Given the description of an element on the screen output the (x, y) to click on. 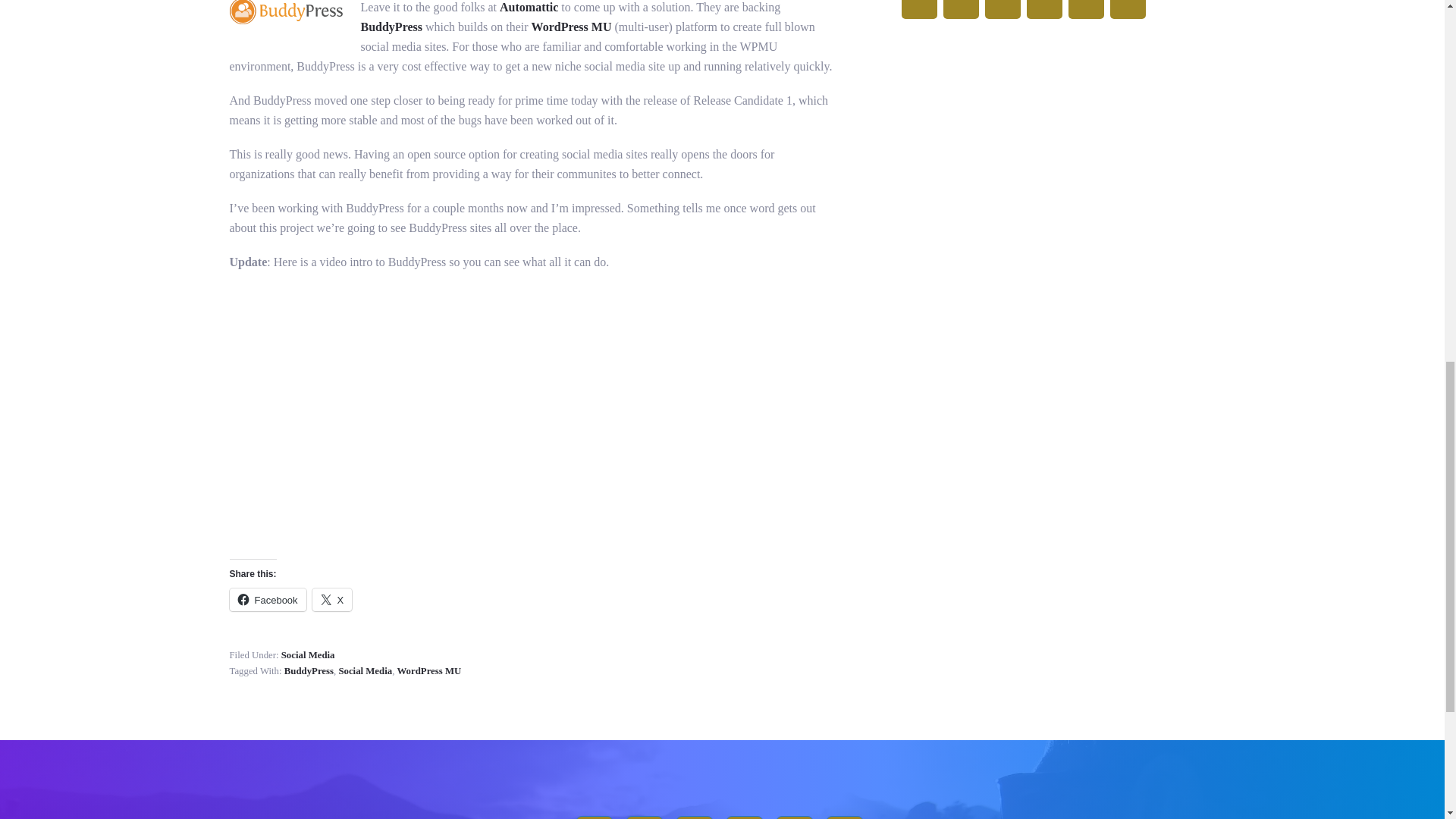
Facebook (266, 599)
Automattic (528, 6)
BuddyPress Logo (285, 12)
BuddyPress (392, 26)
WordPress MU (429, 670)
Click to share on X (332, 599)
Social Media (307, 655)
X (332, 599)
WordPress MU (571, 26)
Click to share on Facebook (266, 599)
